Given the description of an element on the screen output the (x, y) to click on. 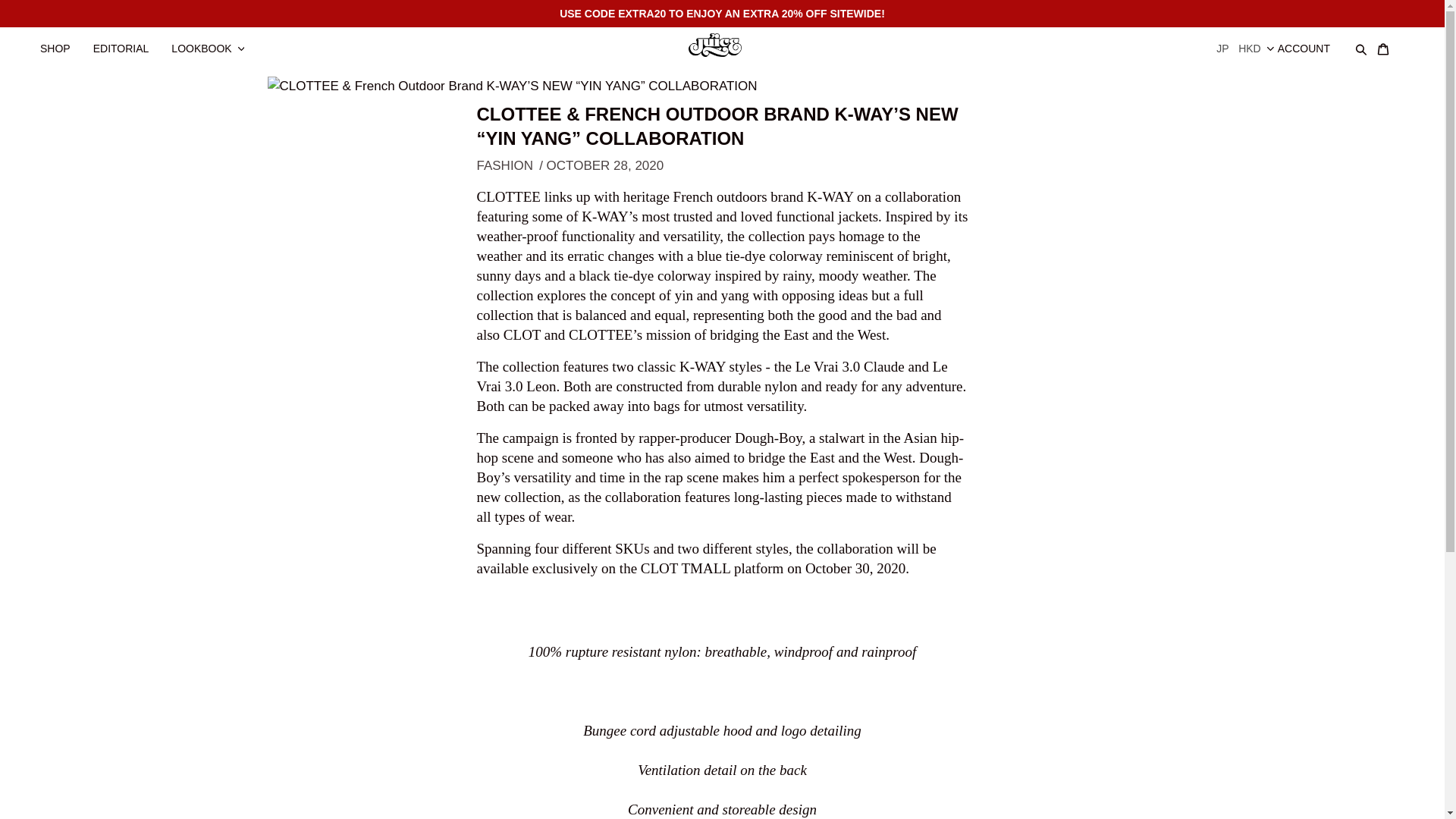
SHOP (62, 41)
ACCOUNT (1311, 41)
JUICESTORE (722, 43)
EDITORIAL (128, 41)
CART (1390, 41)
